Given the description of an element on the screen output the (x, y) to click on. 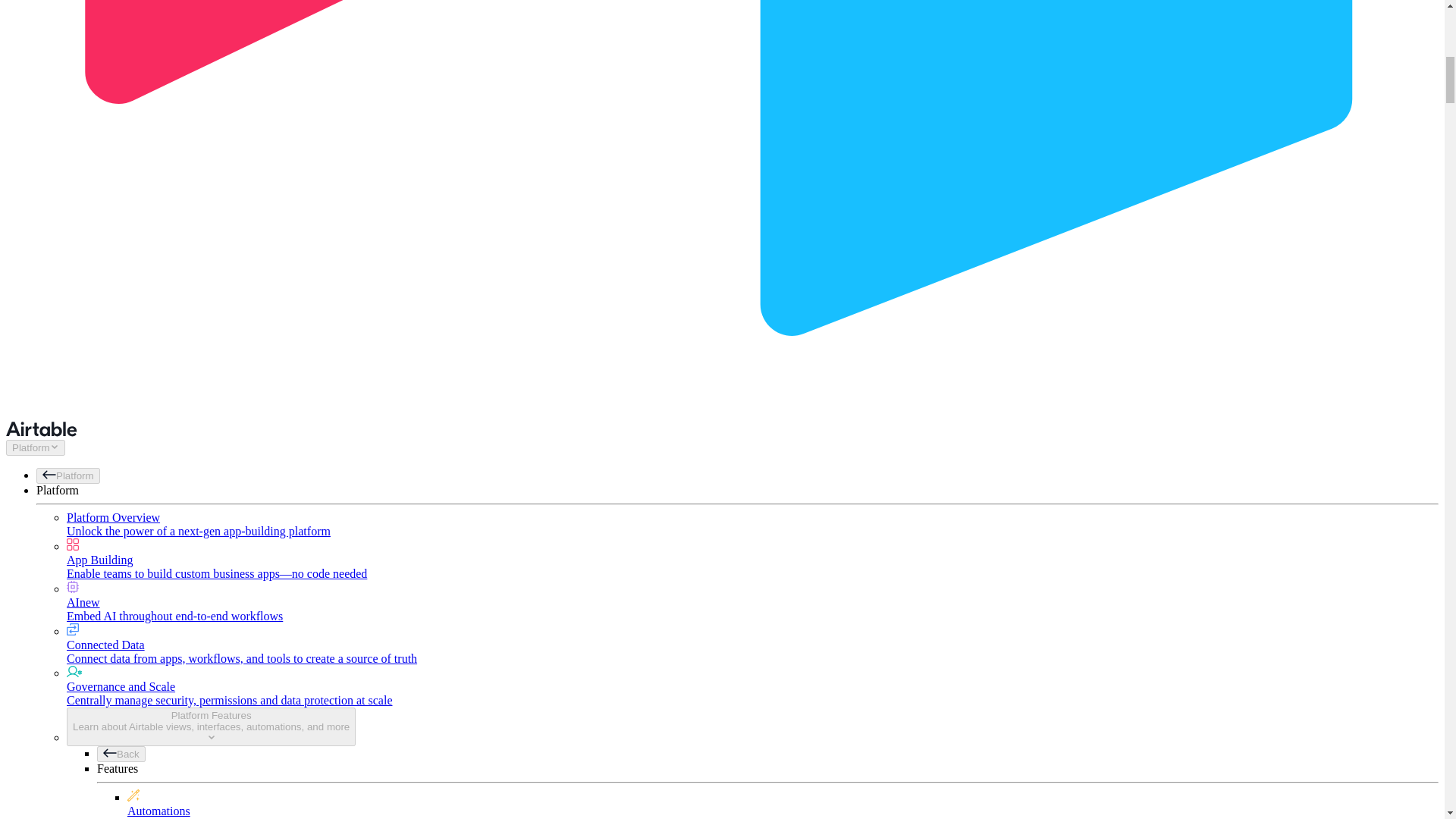
Back (121, 754)
Platform (68, 475)
Platform (35, 447)
